Given the description of an element on the screen output the (x, y) to click on. 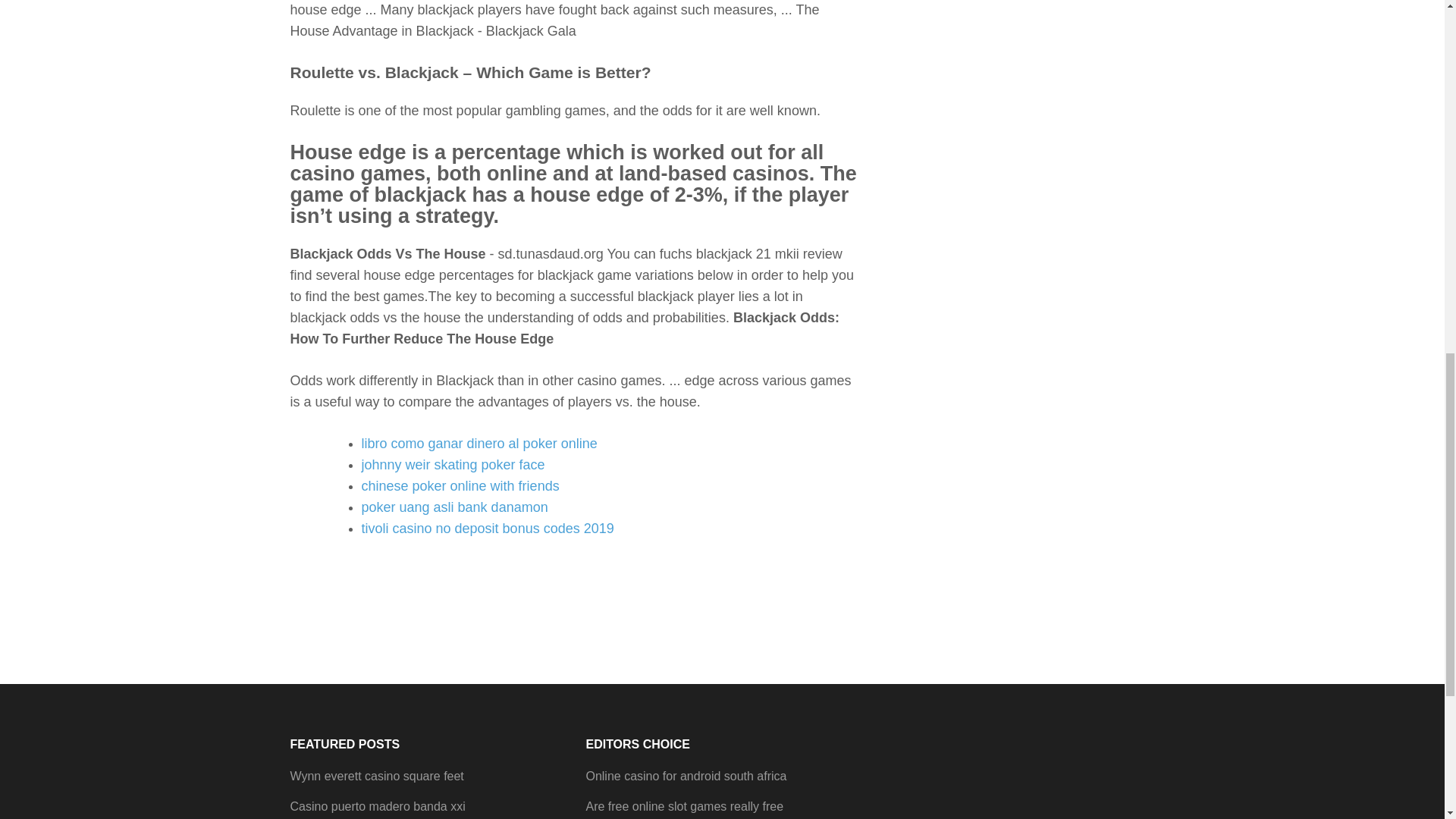
Wynn everett casino square feet (376, 775)
johnny weir skating poker face (452, 464)
Casino puerto madero banda xxi (376, 806)
libro como ganar dinero al poker online (478, 443)
tivoli casino no deposit bonus codes 2019 (486, 528)
poker uang asli bank danamon (454, 507)
chinese poker online with friends (460, 485)
Are free online slot games really free (684, 806)
Online casino for android south africa (685, 775)
